Given the description of an element on the screen output the (x, y) to click on. 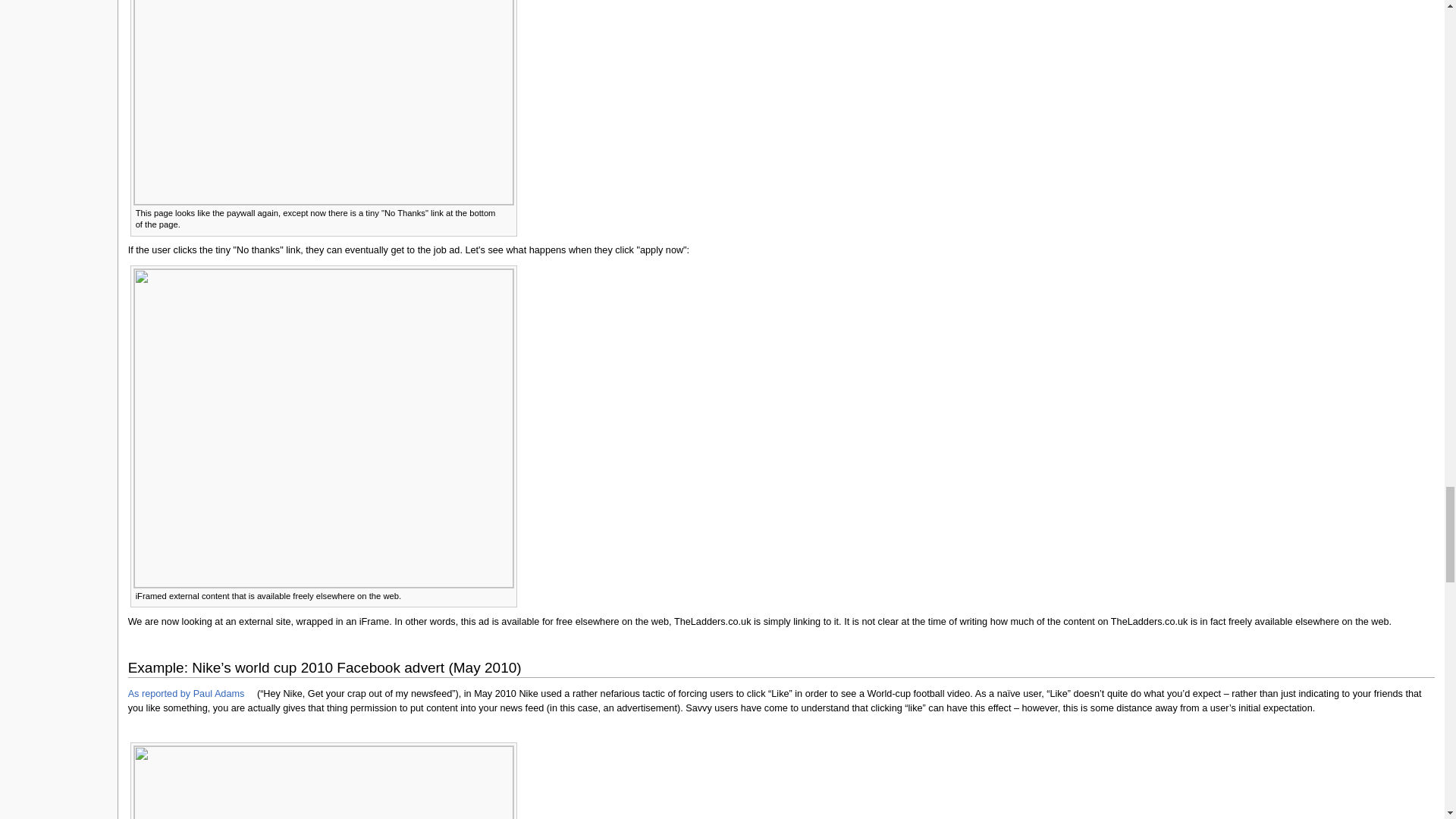
Enlarge (506, 594)
As reported by Paul Adams (191, 693)
Enlarge (506, 212)
